Given the description of an element on the screen output the (x, y) to click on. 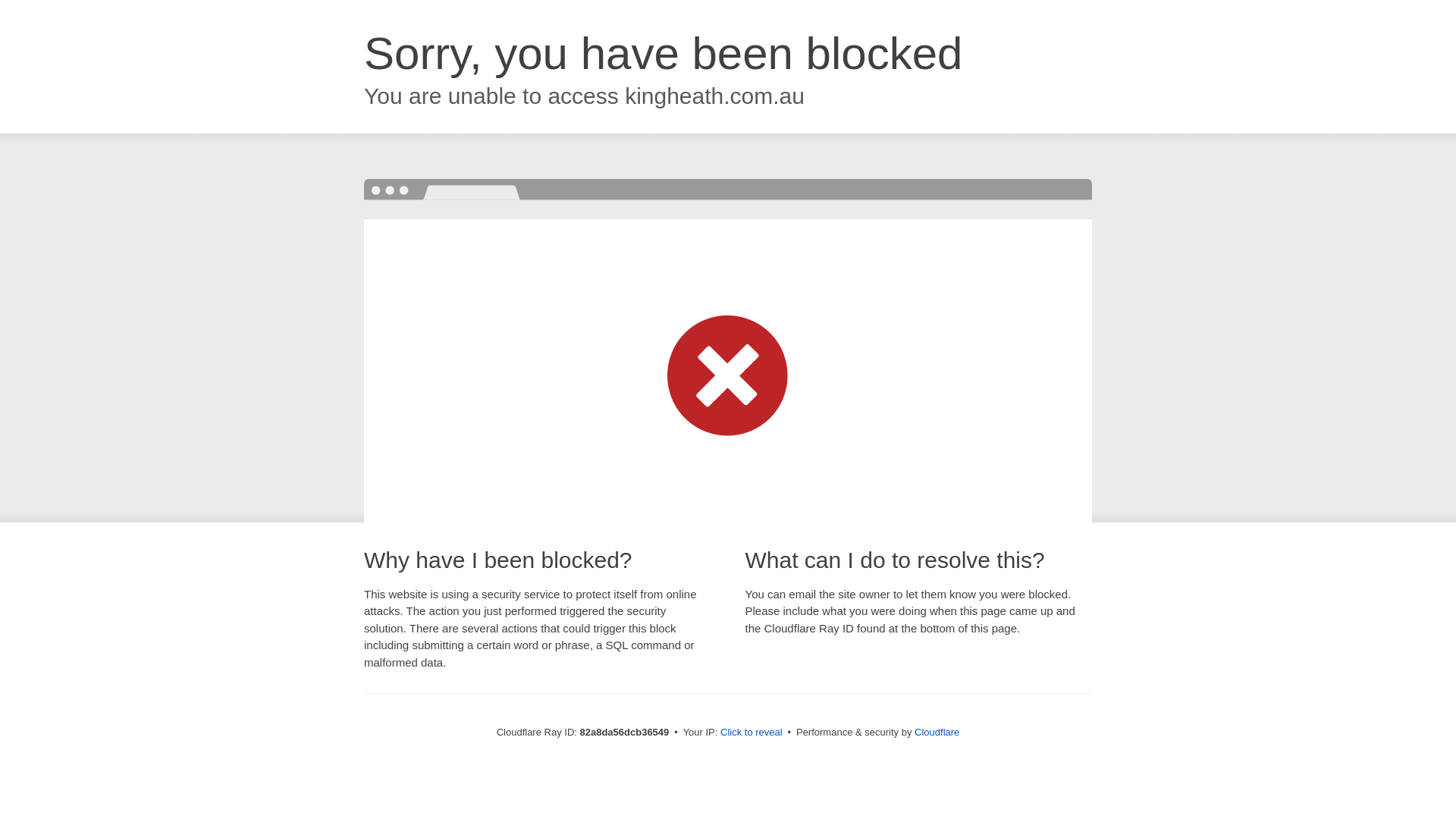
Cloudflare Element type: text (936, 731)
Click to reveal Element type: text (751, 732)
